Given the description of an element on the screen output the (x, y) to click on. 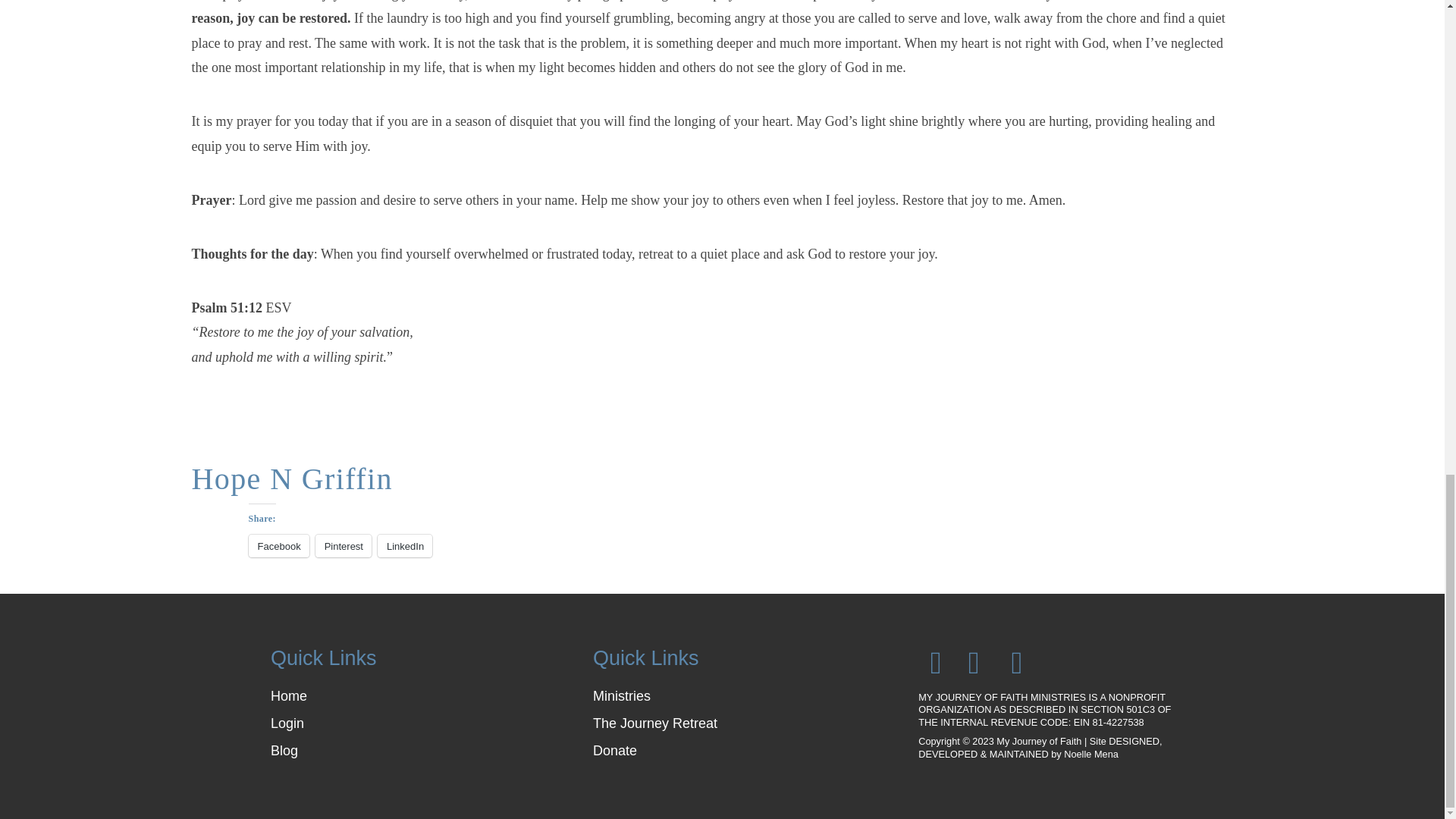
Click to share on Facebook (278, 545)
Click to share on LinkedIn (404, 545)
LinkedIn (404, 545)
Facebook (278, 545)
Pinterest (343, 545)
Click to share on Pinterest (343, 545)
